Given the description of an element on the screen output the (x, y) to click on. 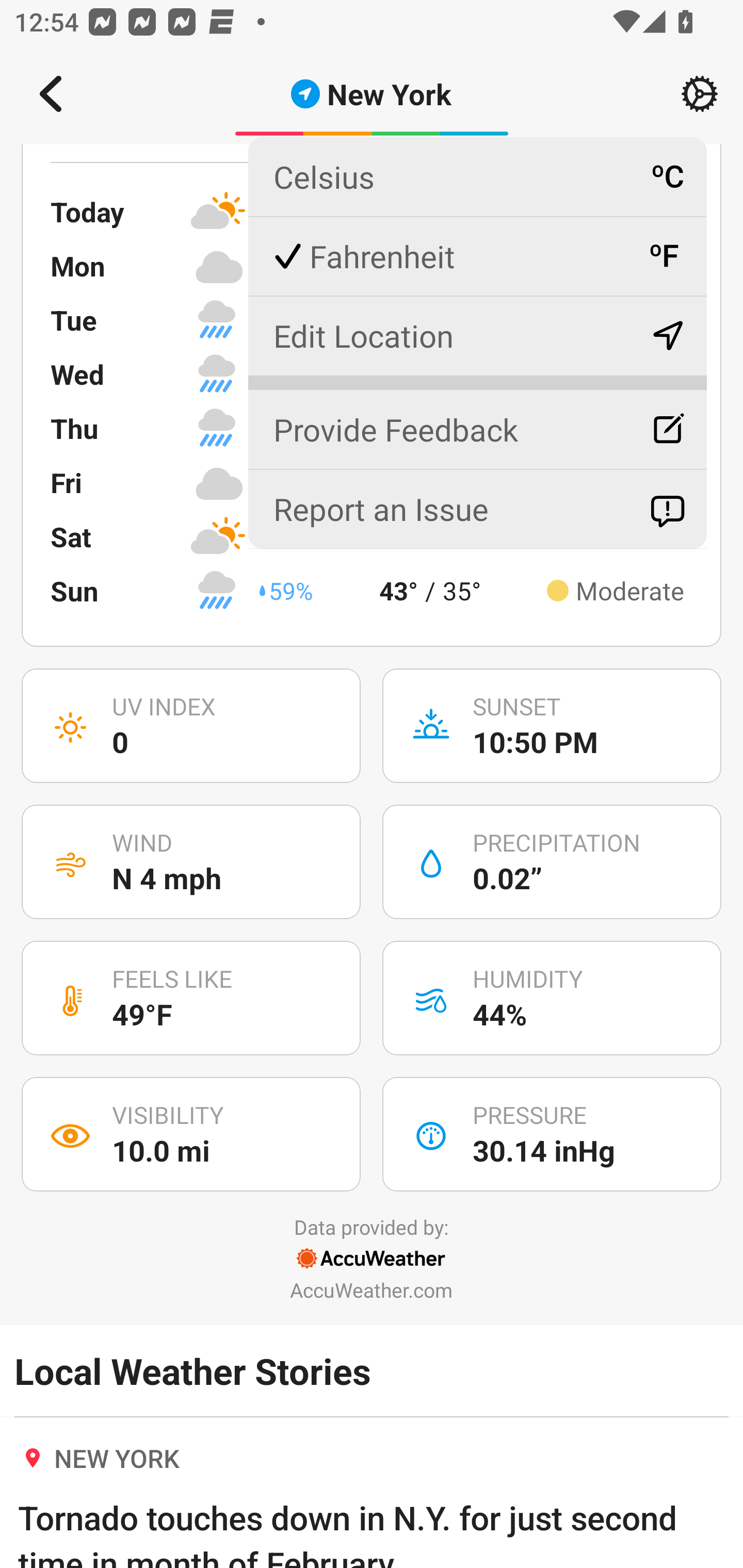
Celsius (477, 176)
Fahrenheit (477, 256)
Edit Location (477, 335)
Provide Feedback (477, 421)
Report an Issue (477, 508)
